Given the description of an element on the screen output the (x, y) to click on. 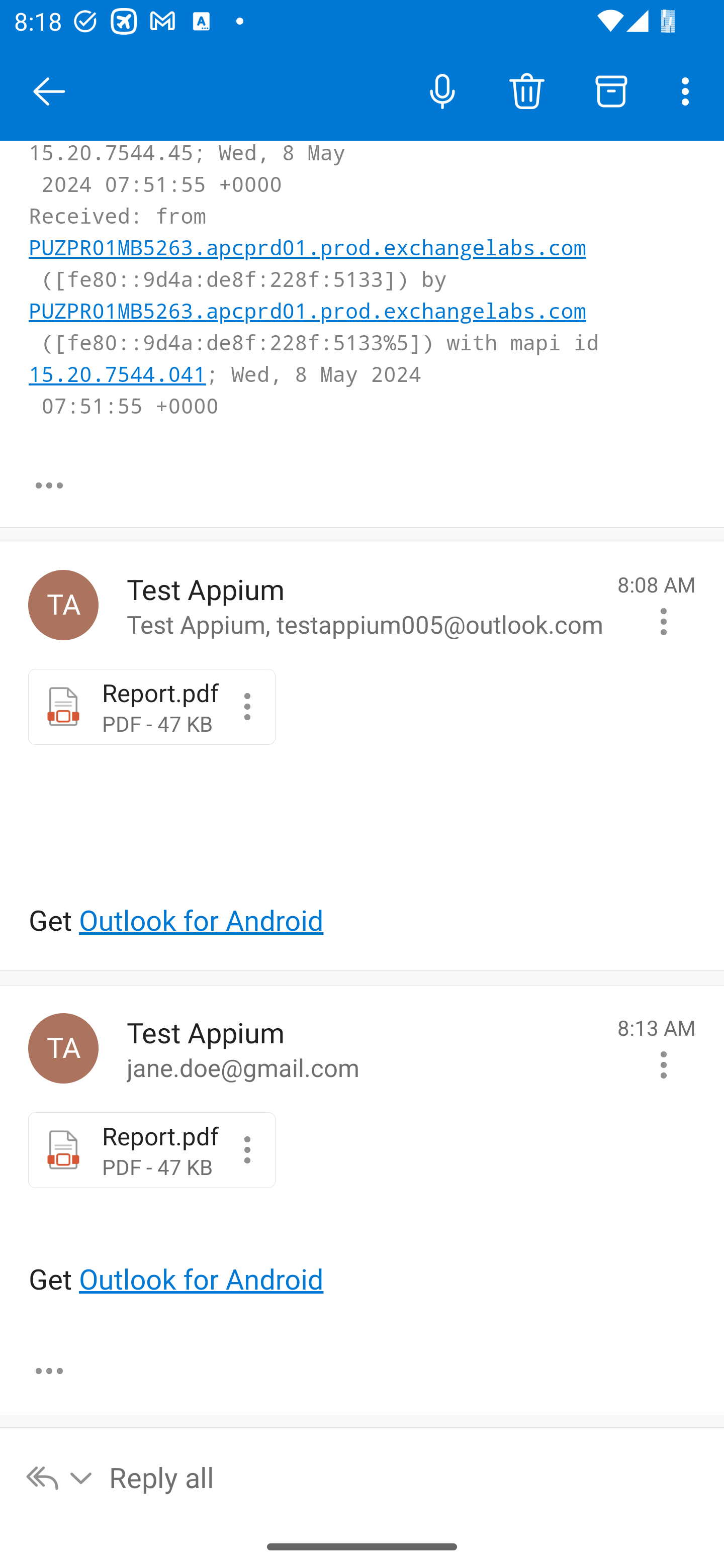
Close (49, 91)
Delete (526, 90)
Archive (611, 90)
More options (688, 90)
Open full message (49, 485)
Test Appium, testappium002@outlook.com (63, 604)
Message actions (663, 621)
Report.pdf (246, 706)
Outlook for Android (201, 921)
Test Appium, testappium002@outlook.com (63, 1047)
Test Appium
to jane.doe@gmail.com (364, 1047)
Message actions (663, 1065)
Report.pdf (246, 1149)
Outlook for Android (201, 1280)
Open full message (49, 1370)
Reply options (59, 1476)
